Given the description of an element on the screen output the (x, y) to click on. 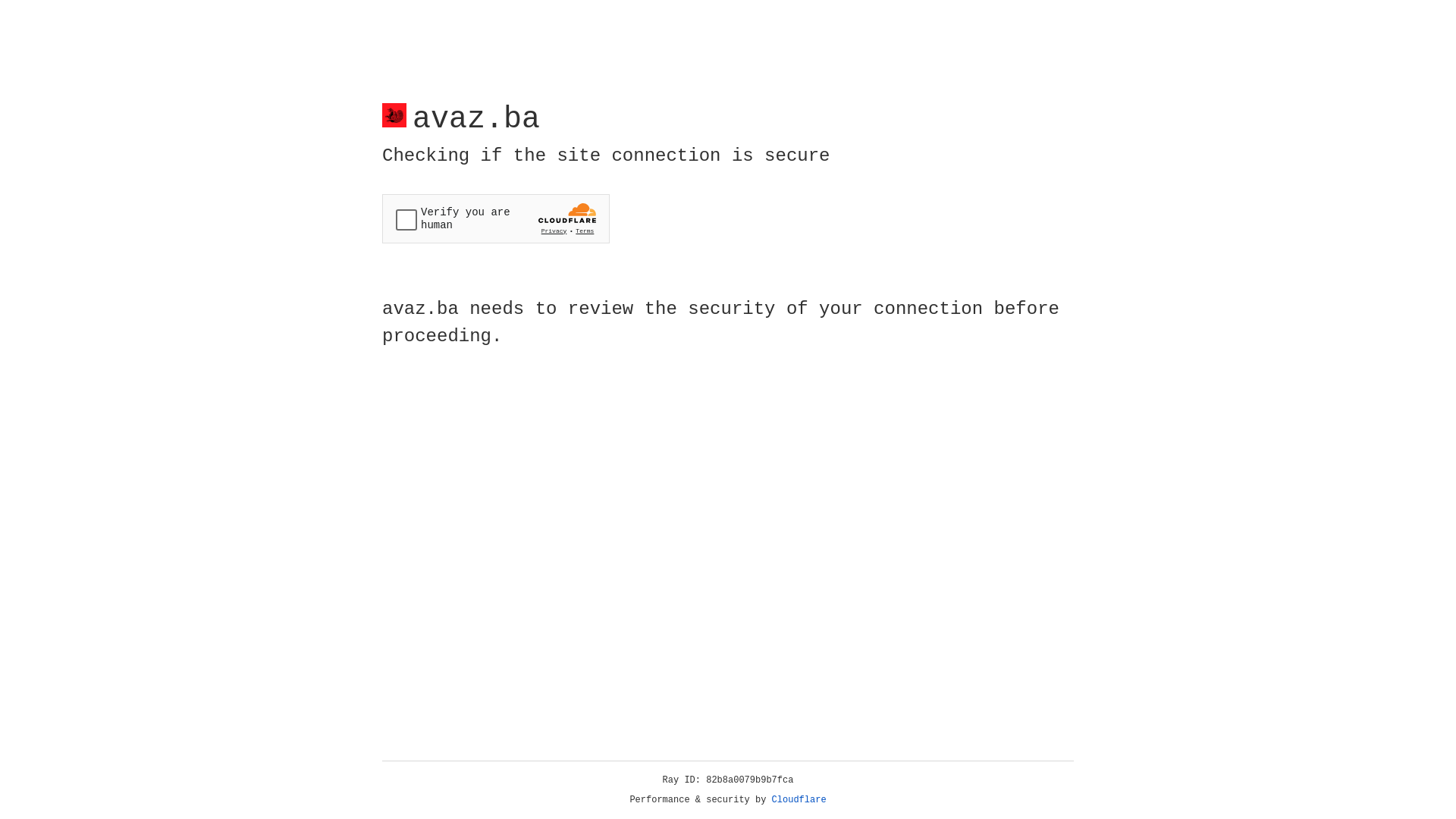
Widget containing a Cloudflare security challenge Element type: hover (495, 218)
Cloudflare Element type: text (798, 799)
